Given the description of an element on the screen output the (x, y) to click on. 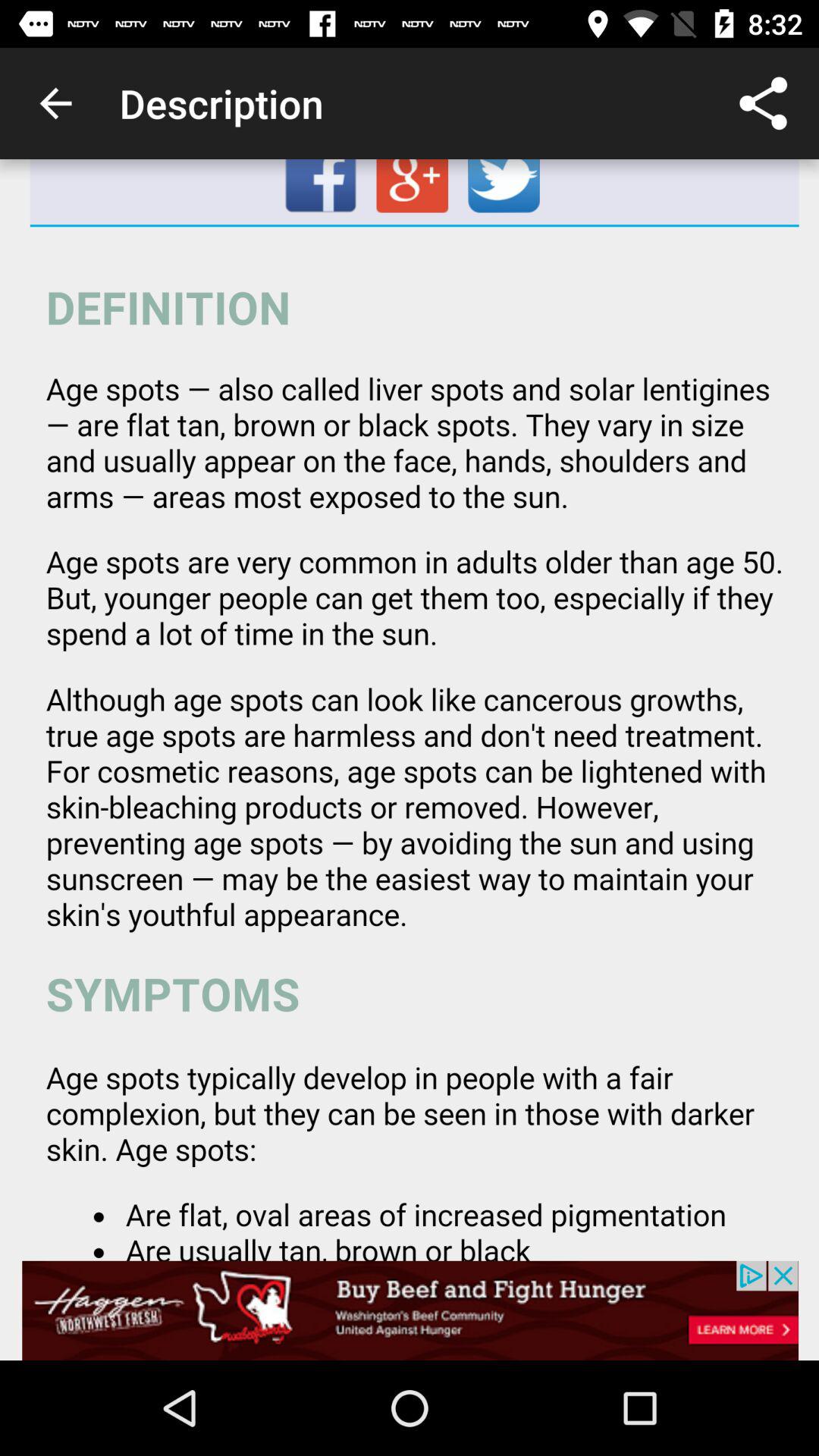
google box option (414, 191)
